Given the description of an element on the screen output the (x, y) to click on. 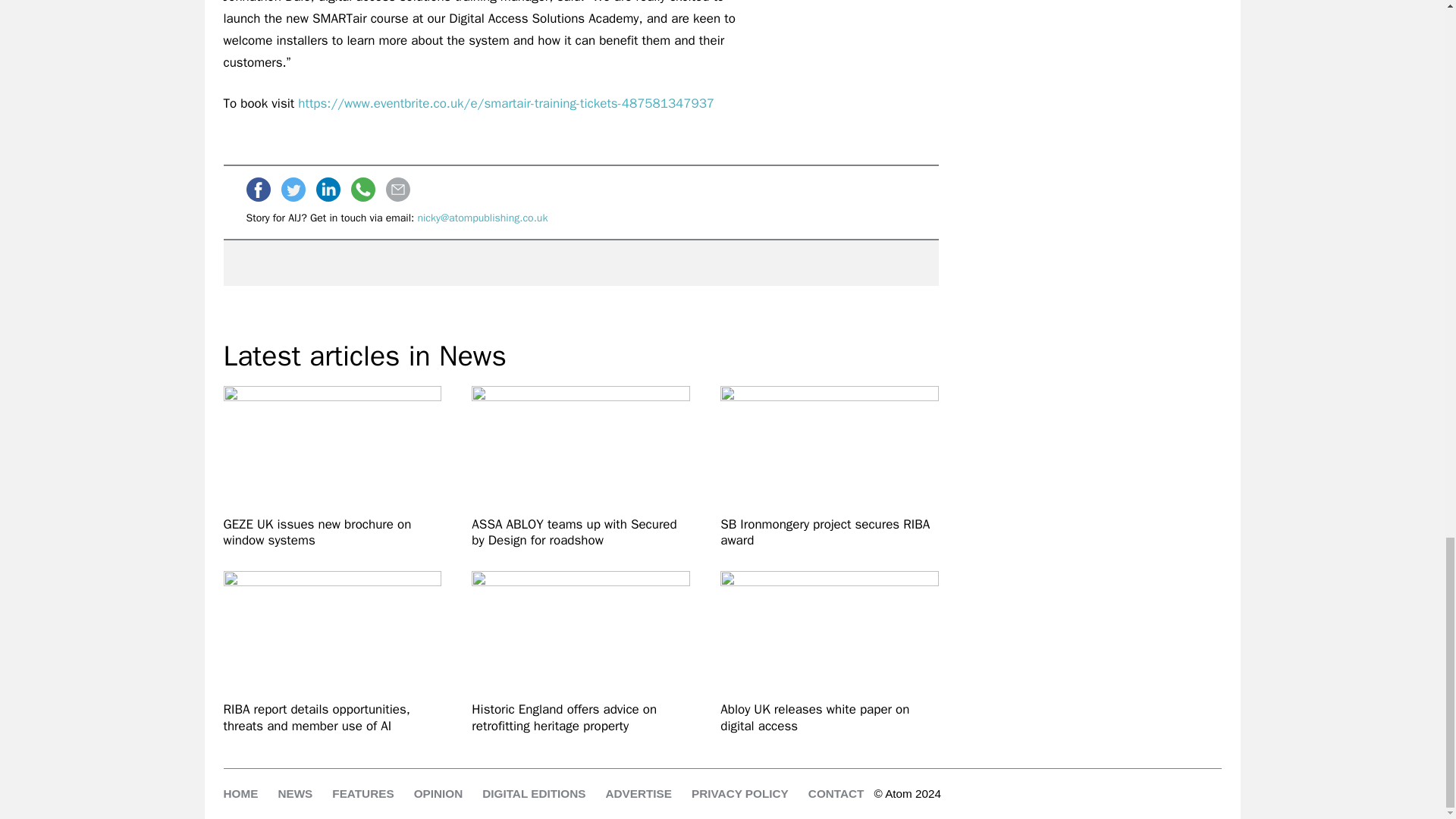
GEZE UK issues new brochure on window systems (331, 532)
SB Ironmongery project secures RIBA award (829, 532)
Send email (397, 189)
Share on LinkedIn (327, 189)
Share on WhatsApp (362, 189)
Tweet (292, 189)
SB Ironmongery project secures RIBA award (829, 446)
GEZE UK issues new brochure on window systems (331, 446)
ASSA ABLOY teams up with Secured by Design for roadshow (580, 532)
Share on Facebook (257, 189)
ASSA ABLOY teams up with Secured by Design for roadshow (580, 446)
